Given the description of an element on the screen output the (x, y) to click on. 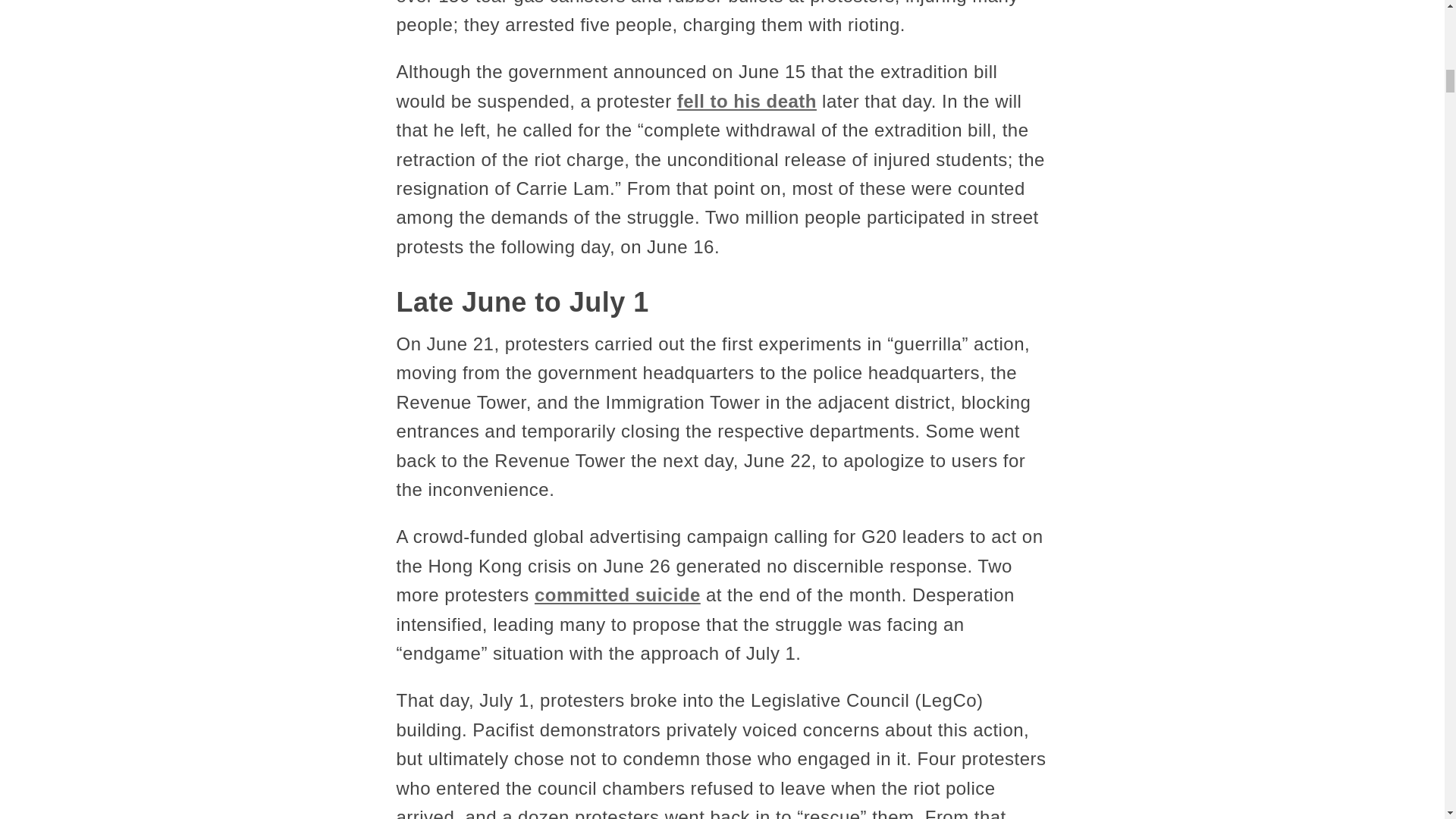
committed suicide (617, 594)
fell to his death (746, 100)
